Given the description of an element on the screen output the (x, y) to click on. 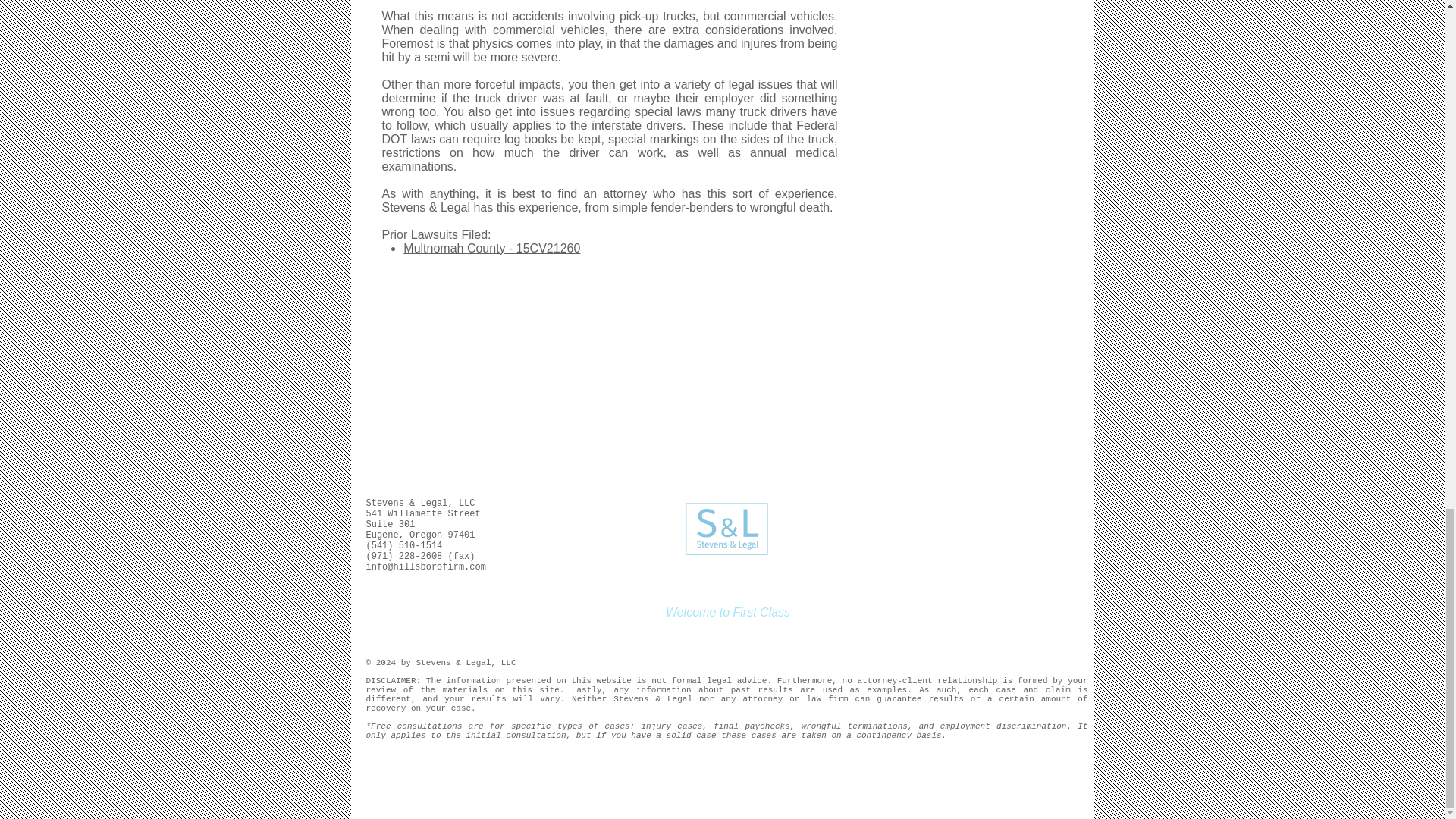
Twitter Tweet (841, 505)
Facebook Like (898, 505)
